Given the description of an element on the screen output the (x, y) to click on. 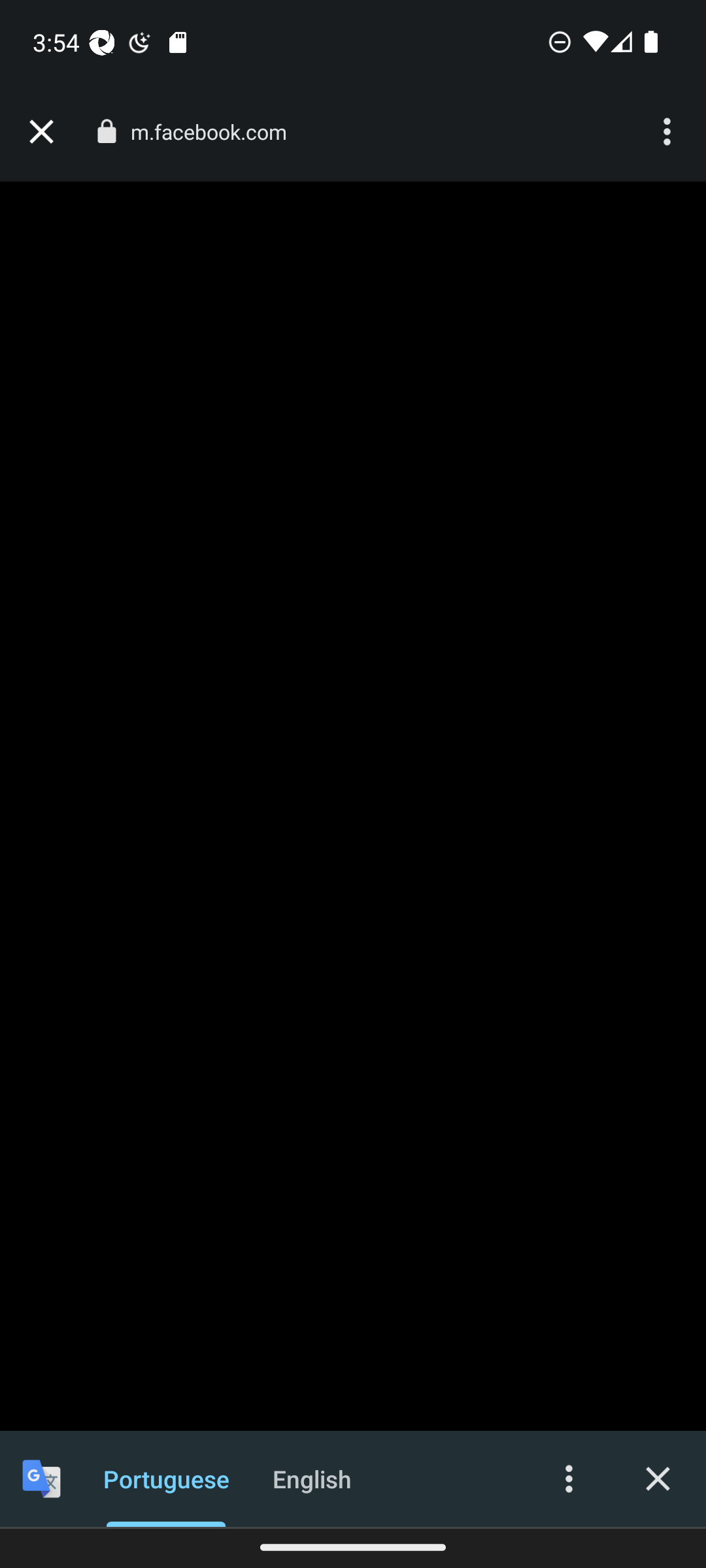
Close tab (41, 131)
More options (669, 131)
Connection is secure (106, 131)
m.facebook.com (215, 131)
English (312, 1478)
More options (568, 1478)
Close (657, 1478)
